Given the description of an element on the screen output the (x, y) to click on. 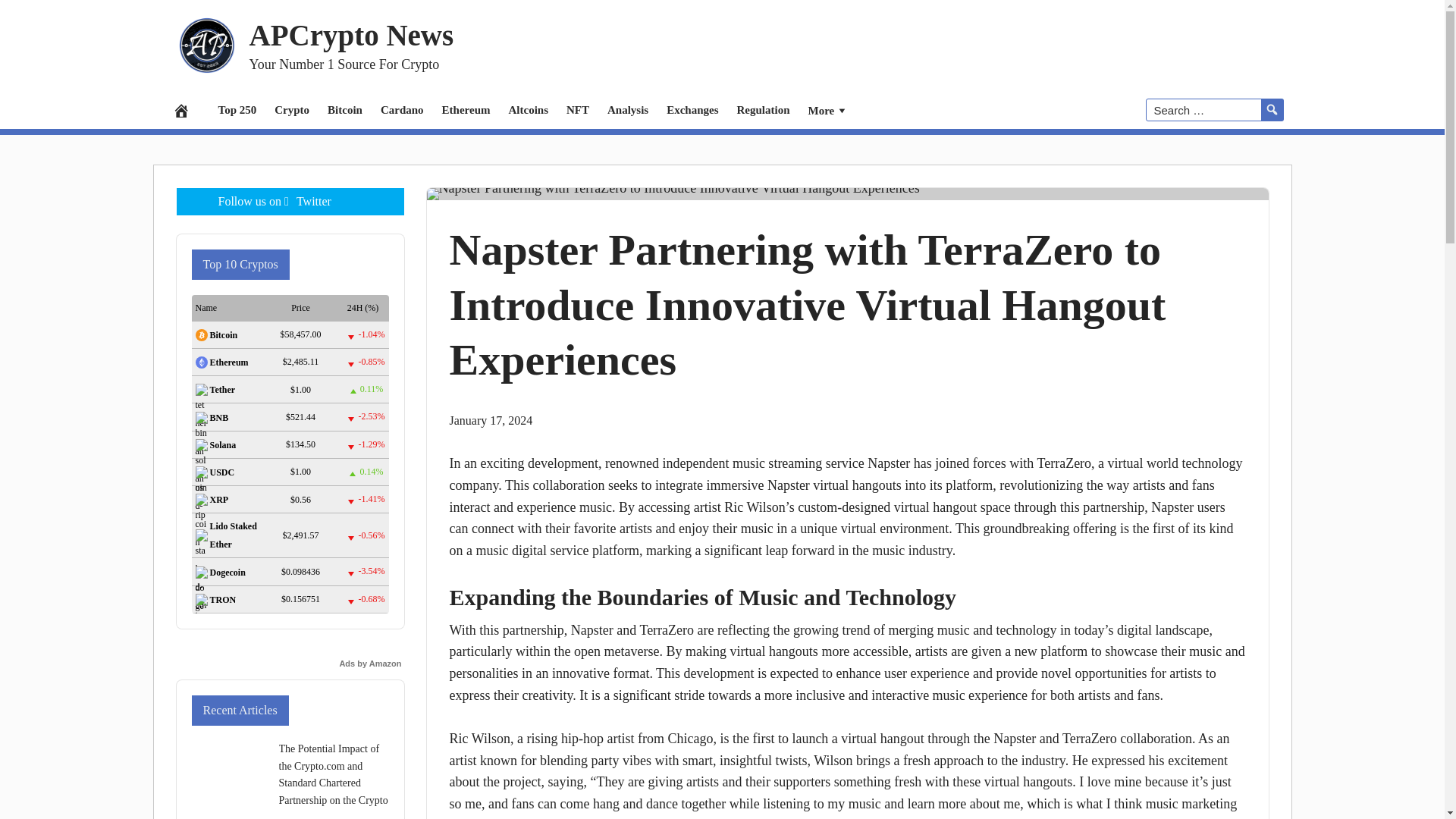
NFT (577, 109)
Bitcoin (344, 109)
Exchanges (692, 109)
Ethereum (465, 109)
Cardano (401, 109)
More (829, 109)
Analysis (628, 109)
Altcoins (528, 109)
Regulation (763, 109)
APCrypto News (350, 34)
